Given the description of an element on the screen output the (x, y) to click on. 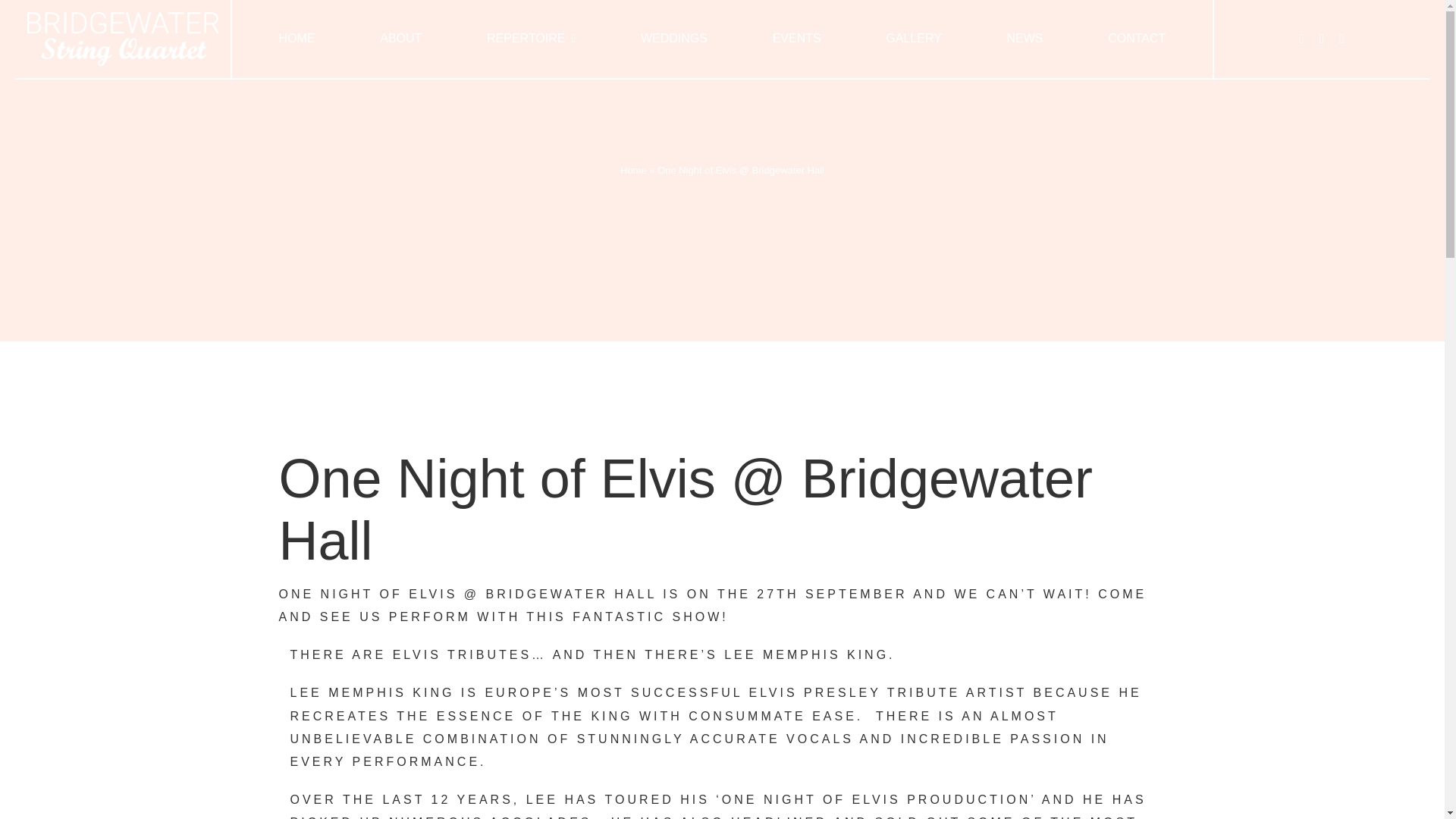
ABOUT (400, 38)
WEDDINGS (674, 38)
HOME (296, 38)
NEWS (1024, 38)
EVENTS (797, 38)
CONTACT (1136, 38)
GALLERY (913, 38)
Home (633, 170)
REPERTOIRE (531, 38)
